Given the description of an element on the screen output the (x, y) to click on. 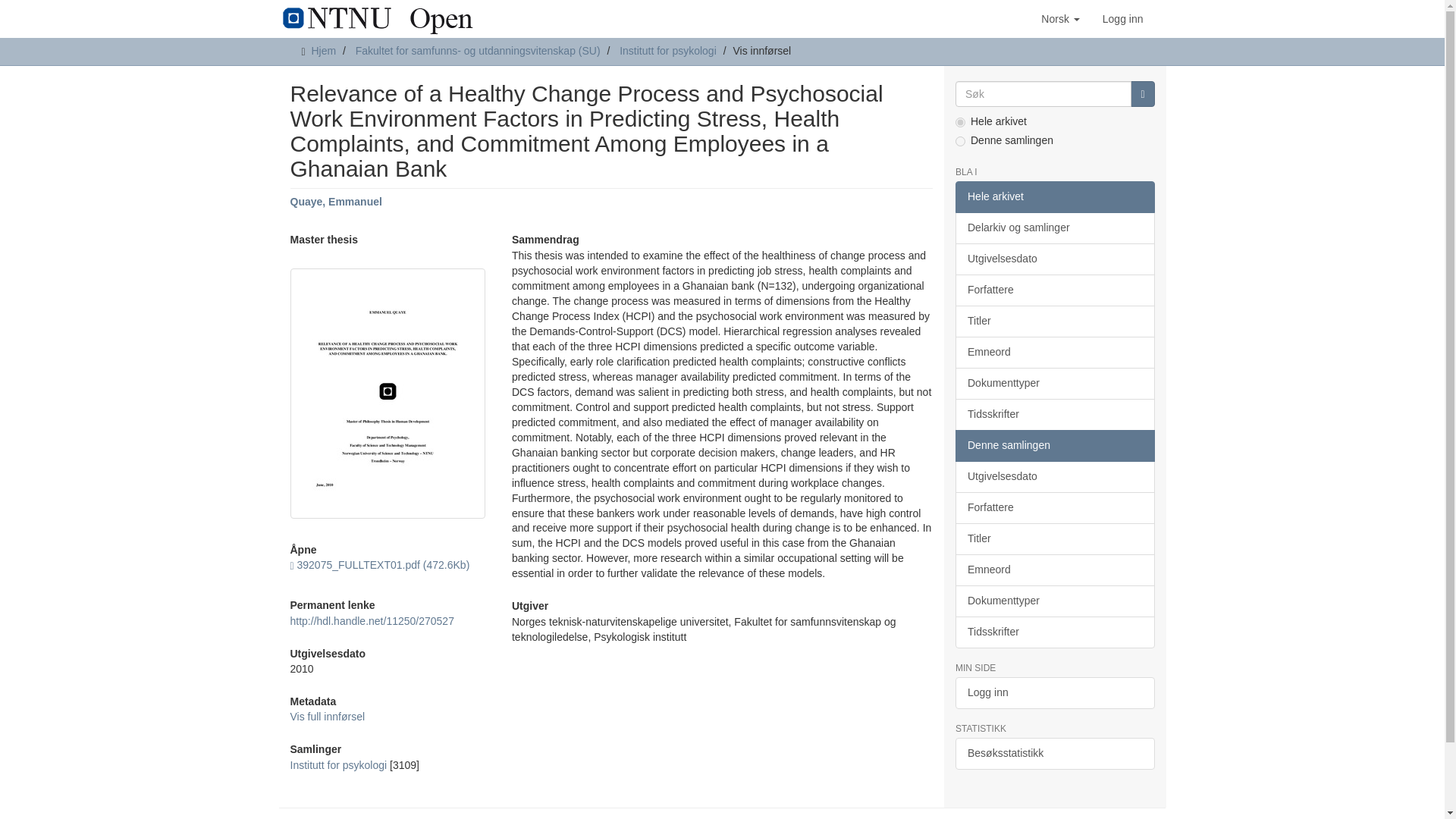
Logg inn (1122, 18)
Hele arkivet (1054, 196)
Titler (1054, 321)
Dokumenttyper (1054, 383)
Emneord (1054, 352)
Norsk  (1059, 18)
Hjem (323, 50)
Institutt for psykologi (668, 50)
Forfattere (1054, 290)
Tidsskrifter (1054, 414)
